Given the description of an element on the screen output the (x, y) to click on. 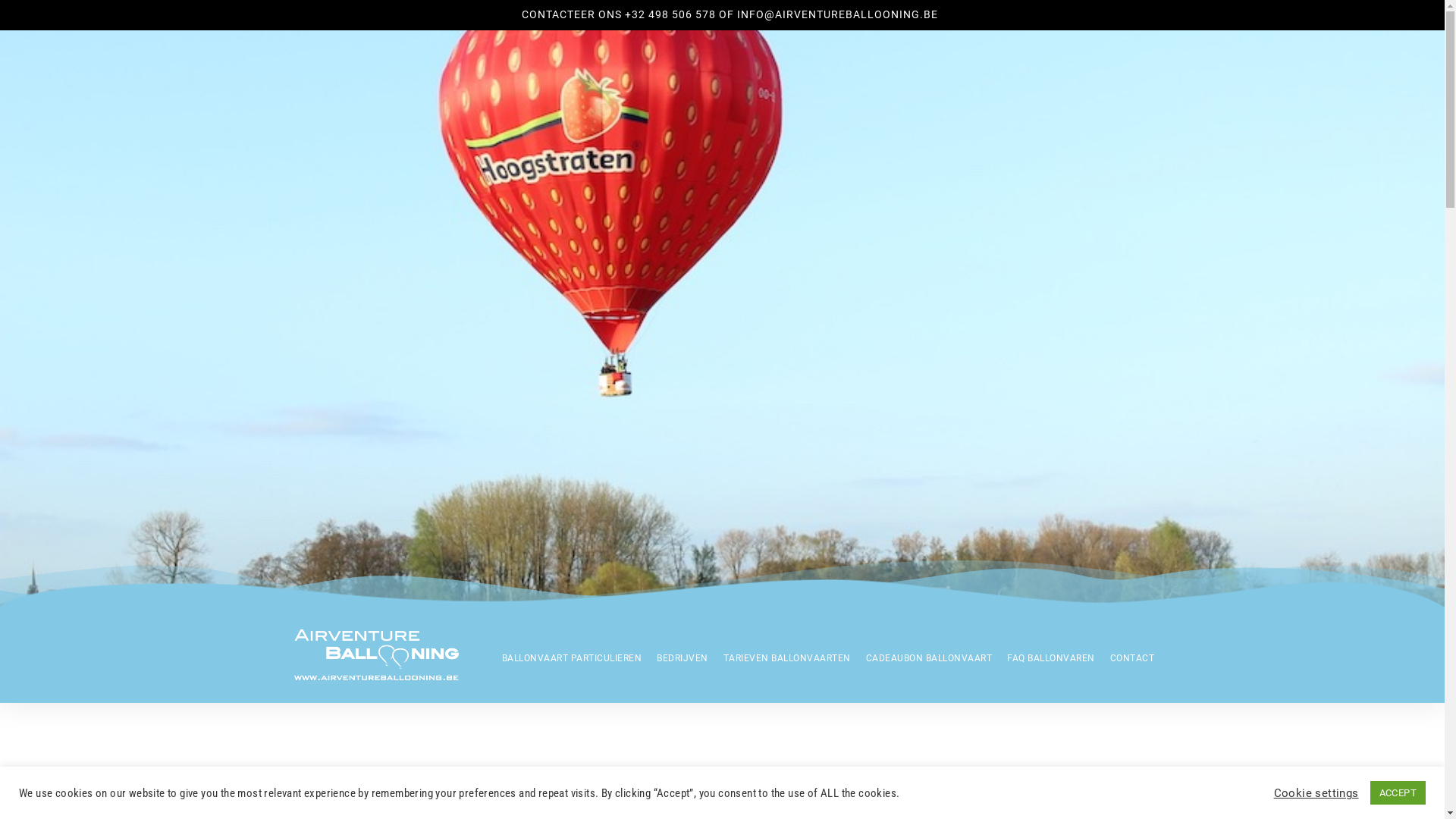
ACCEPT Element type: text (1397, 792)
CONTACT Element type: text (1132, 658)
Cookie settings Element type: text (1316, 792)
BEDRIJVEN Element type: text (682, 658)
FAQ BALLONVAREN Element type: text (1051, 658)
TARIEVEN BALLONVAARTEN Element type: text (786, 658)
BALLONVAART PARTICULIEREN Element type: text (572, 658)
CADEAUBON BALLONVAART Element type: text (929, 658)
